Given the description of an element on the screen output the (x, y) to click on. 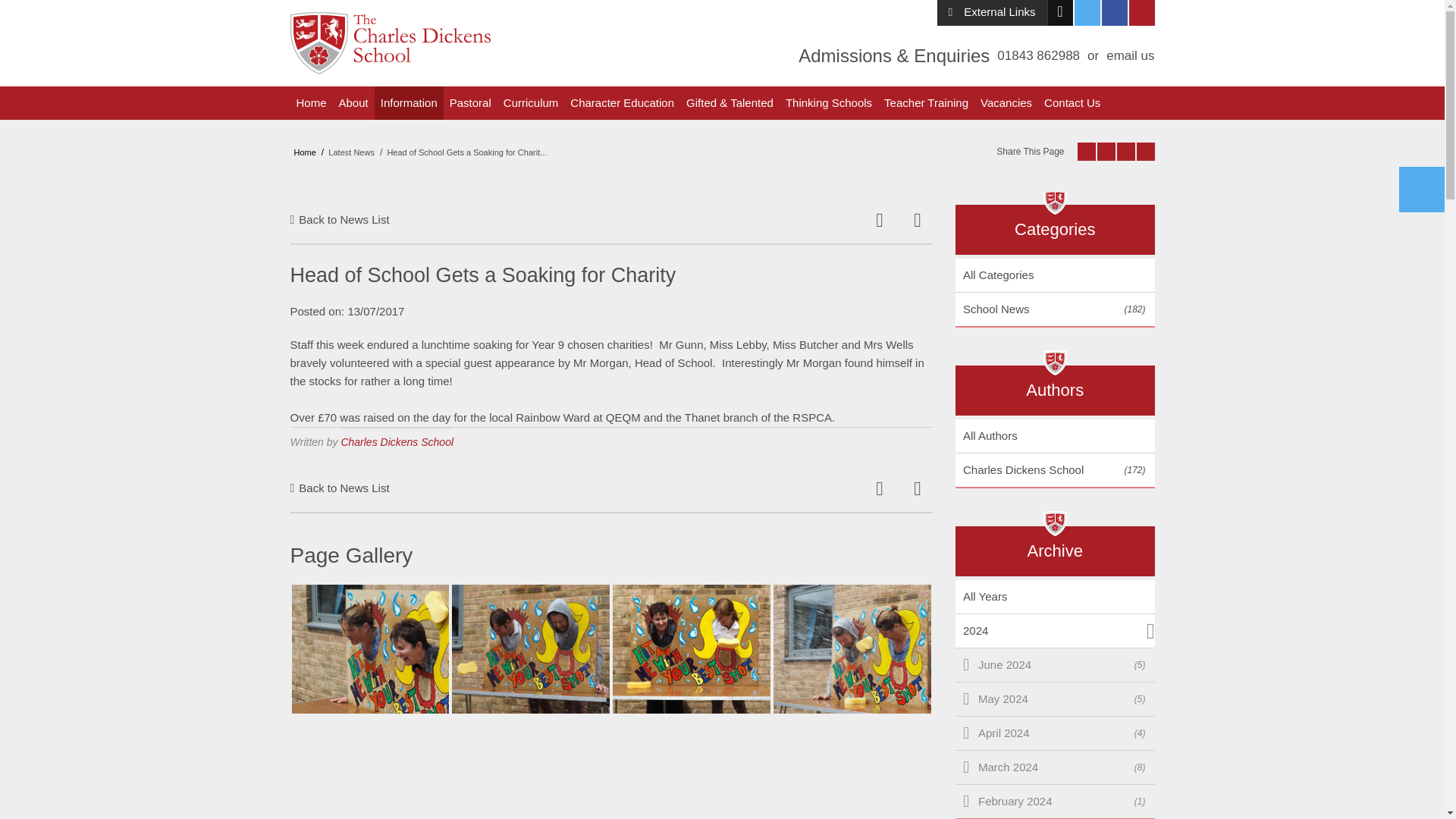
Twitter (1086, 12)
Tweet this page (1105, 151)
Charles Dickens School (389, 43)
Email this page (1144, 151)
View posts written by Charles Dickens School (396, 437)
Back to news (338, 219)
Share this page on Facebook (1085, 151)
Back to news (338, 488)
Facebook (1113, 12)
Pin this page (1125, 151)
